Given the description of an element on the screen output the (x, y) to click on. 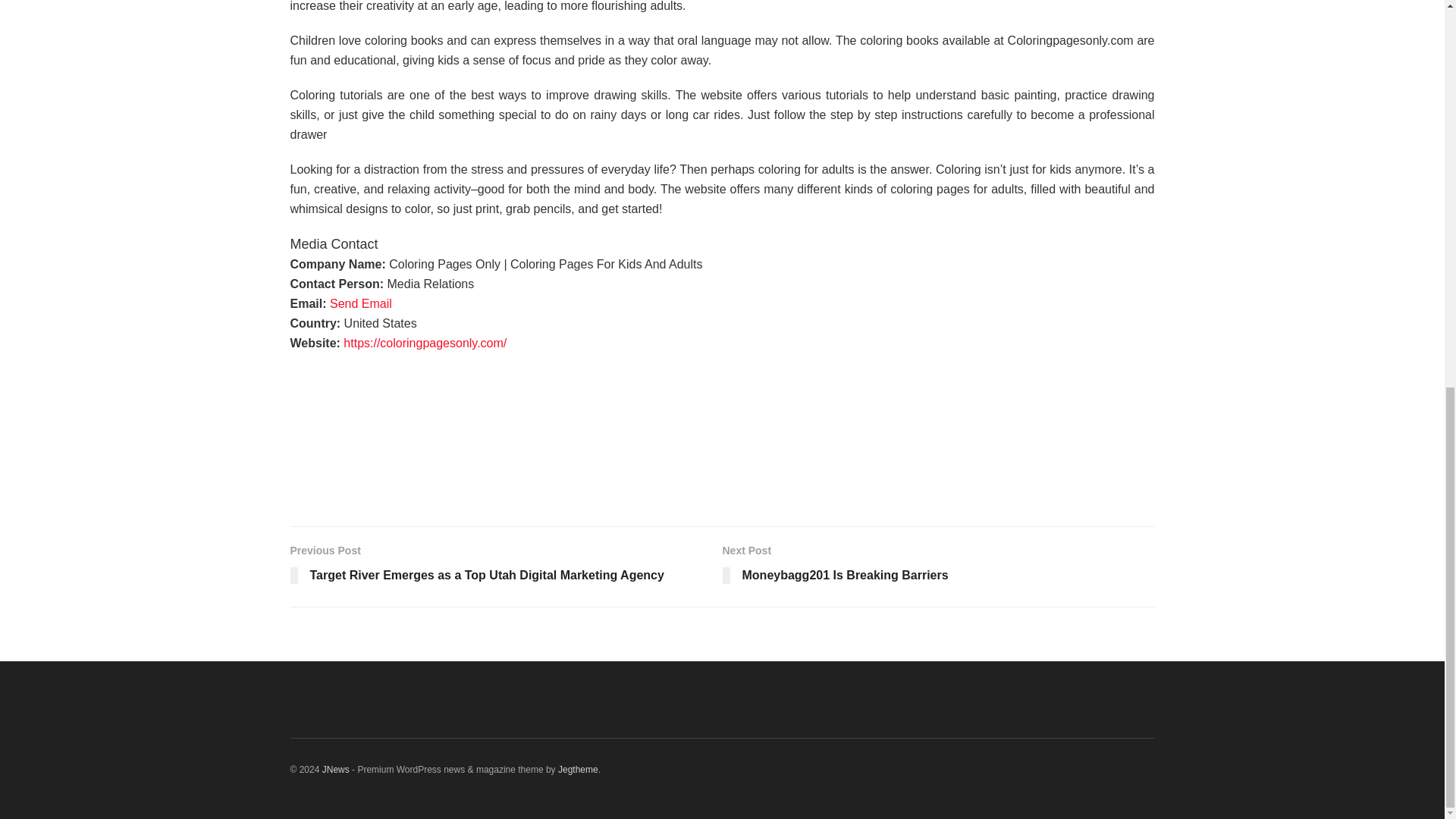
Jegtheme (577, 769)
JNews (335, 769)
Send Email (360, 303)
Jegtheme (938, 566)
